Given the description of an element on the screen output the (x, y) to click on. 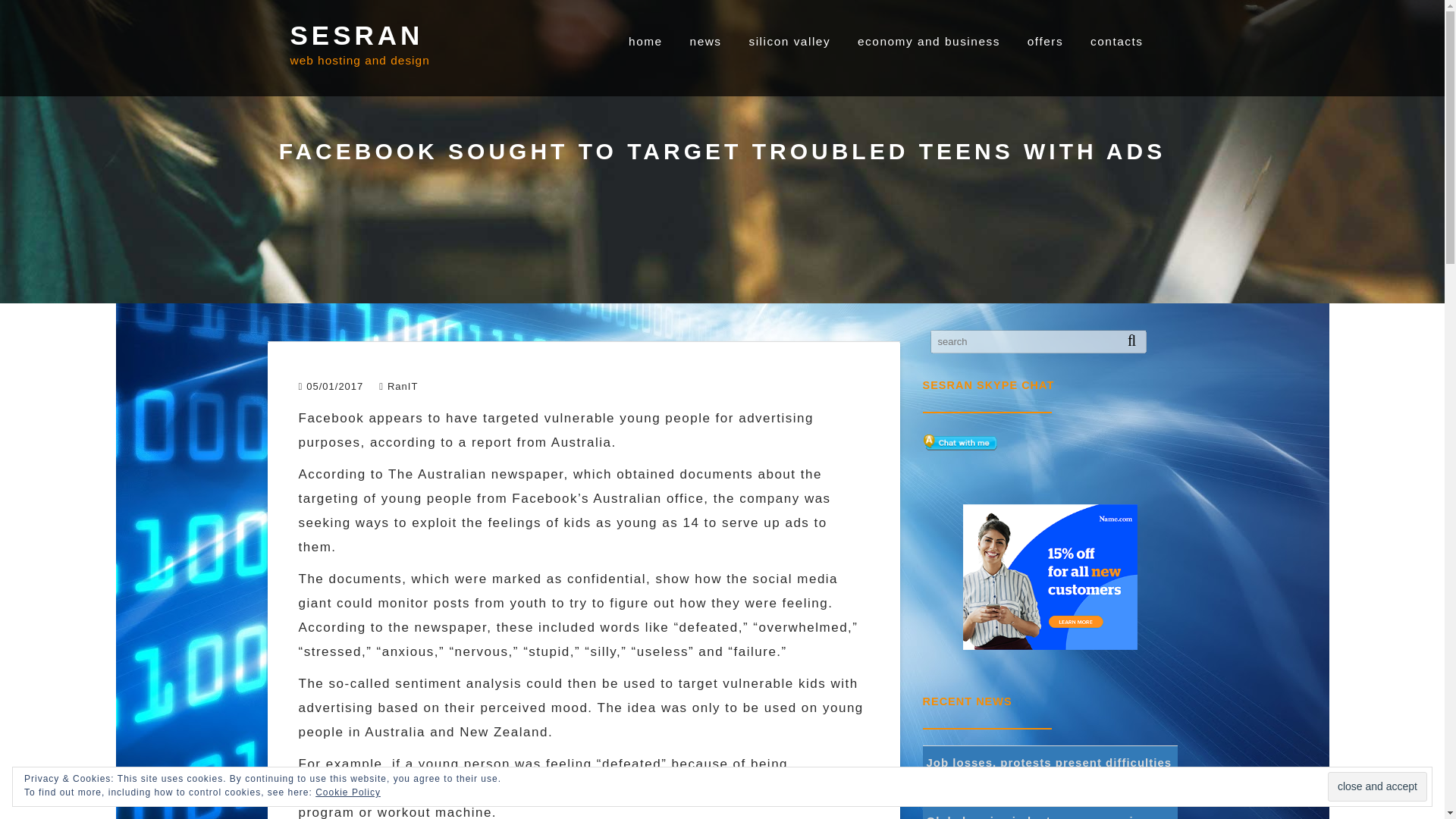
close and accept (1376, 786)
home (645, 41)
offers (1045, 41)
SESRAN (356, 34)
contacts (1116, 41)
news (705, 41)
SESRAN (356, 34)
economy and business (928, 41)
silicon valley (788, 41)
RanIT (397, 386)
